Given the description of an element on the screen output the (x, y) to click on. 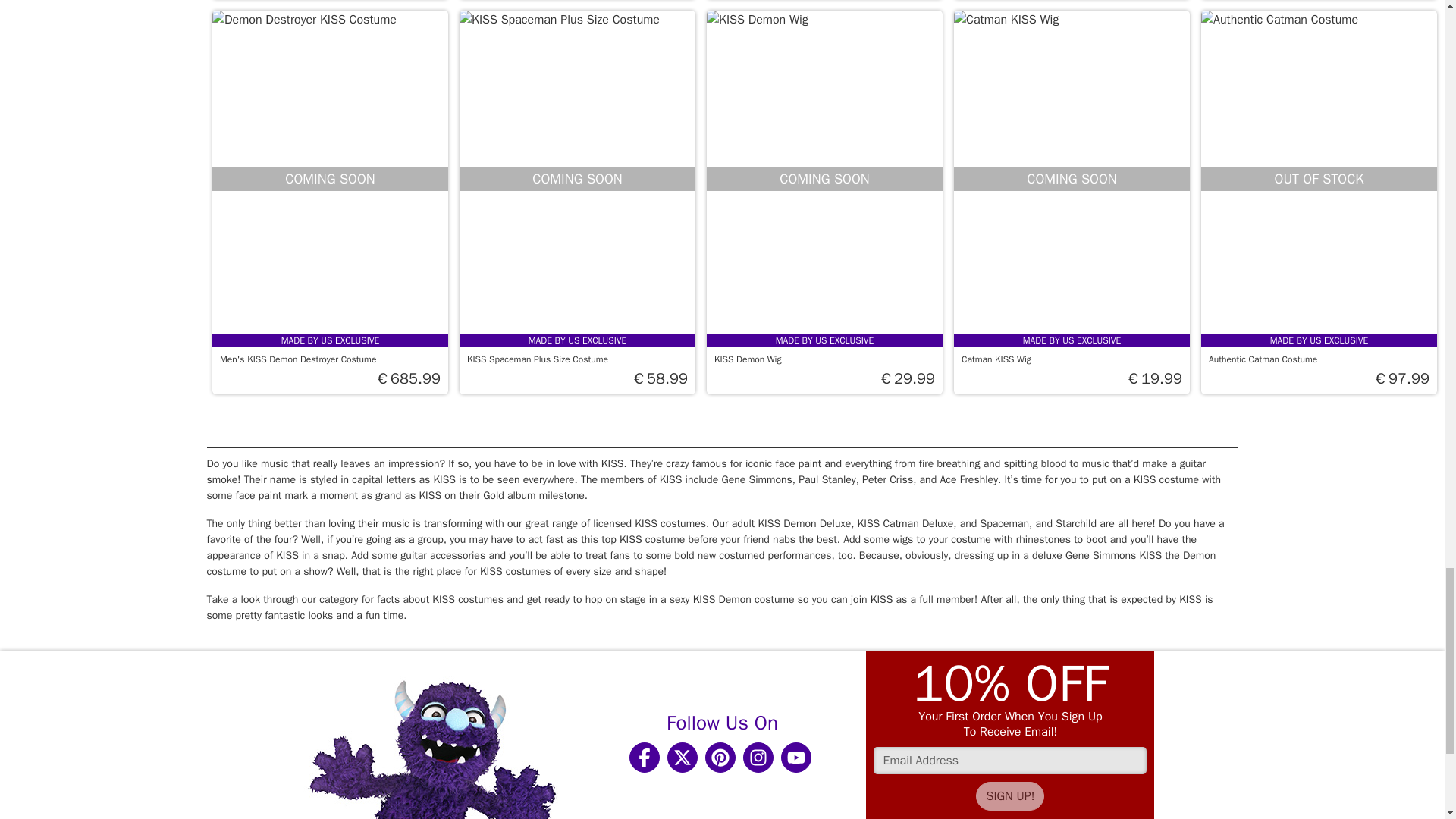
Sign Up! (1009, 796)
